Given the description of an element on the screen output the (x, y) to click on. 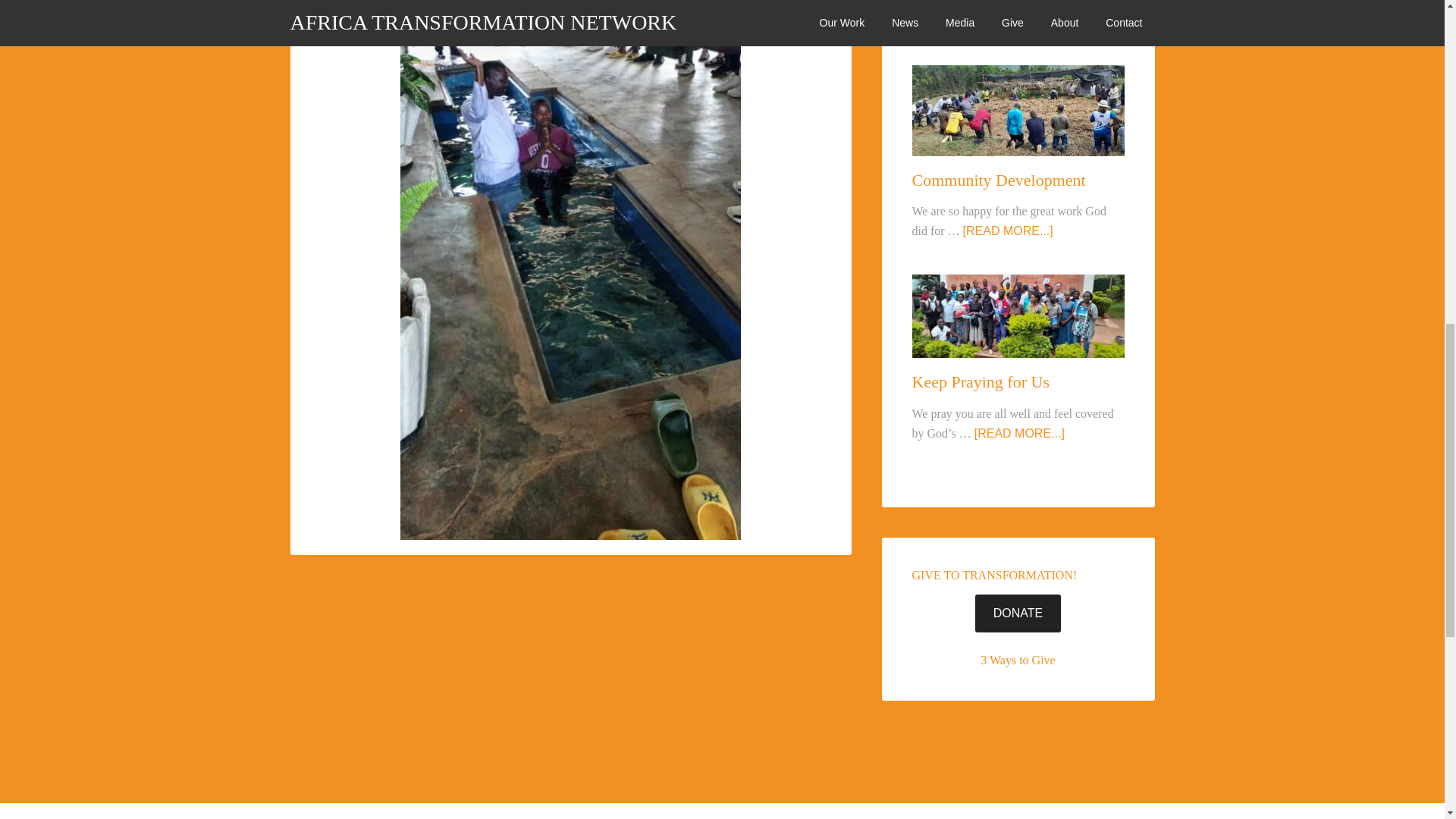
DONATE (1018, 613)
Community Development (997, 179)
Keep Praying for Us (979, 381)
3 Ways to Give (1016, 659)
